Given the description of an element on the screen output the (x, y) to click on. 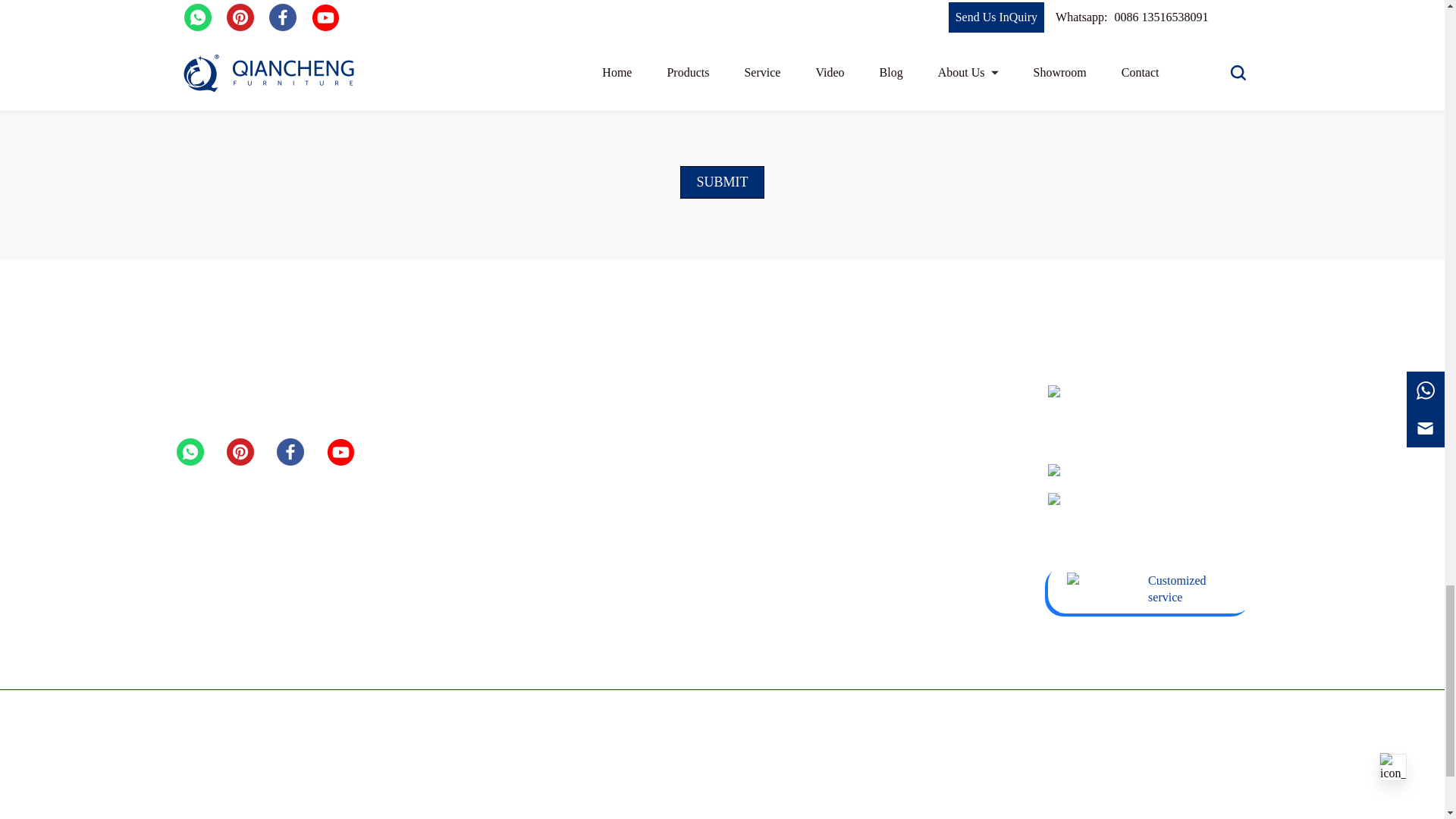
SUBMIT (720, 182)
